Given the description of an element on the screen output the (x, y) to click on. 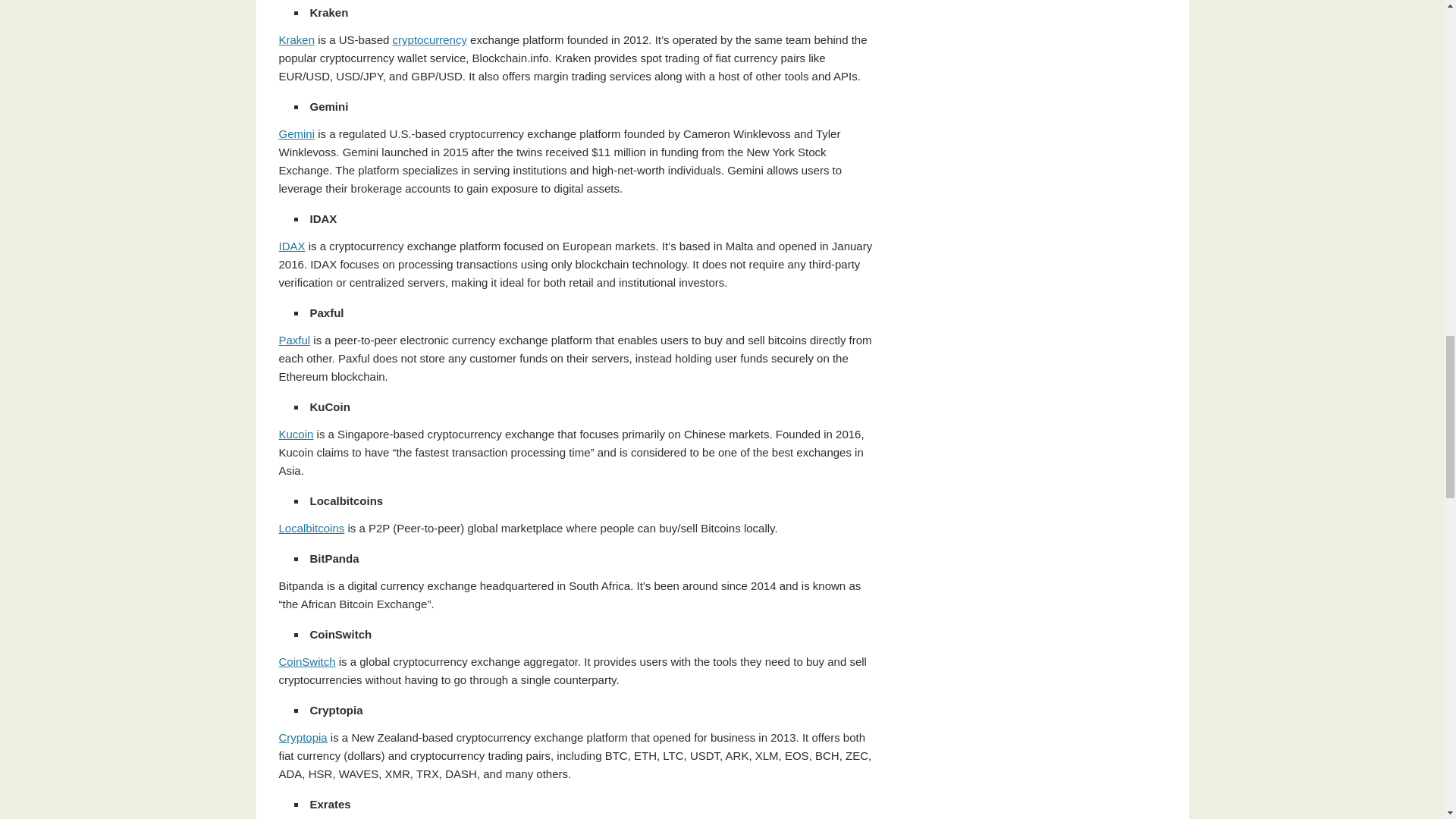
Paxful (295, 339)
Kraken (297, 39)
IDAX (292, 245)
cryptocurrency (430, 39)
Kucoin (296, 433)
Gemini (297, 133)
Localbitcoins (312, 527)
